Given the description of an element on the screen output the (x, y) to click on. 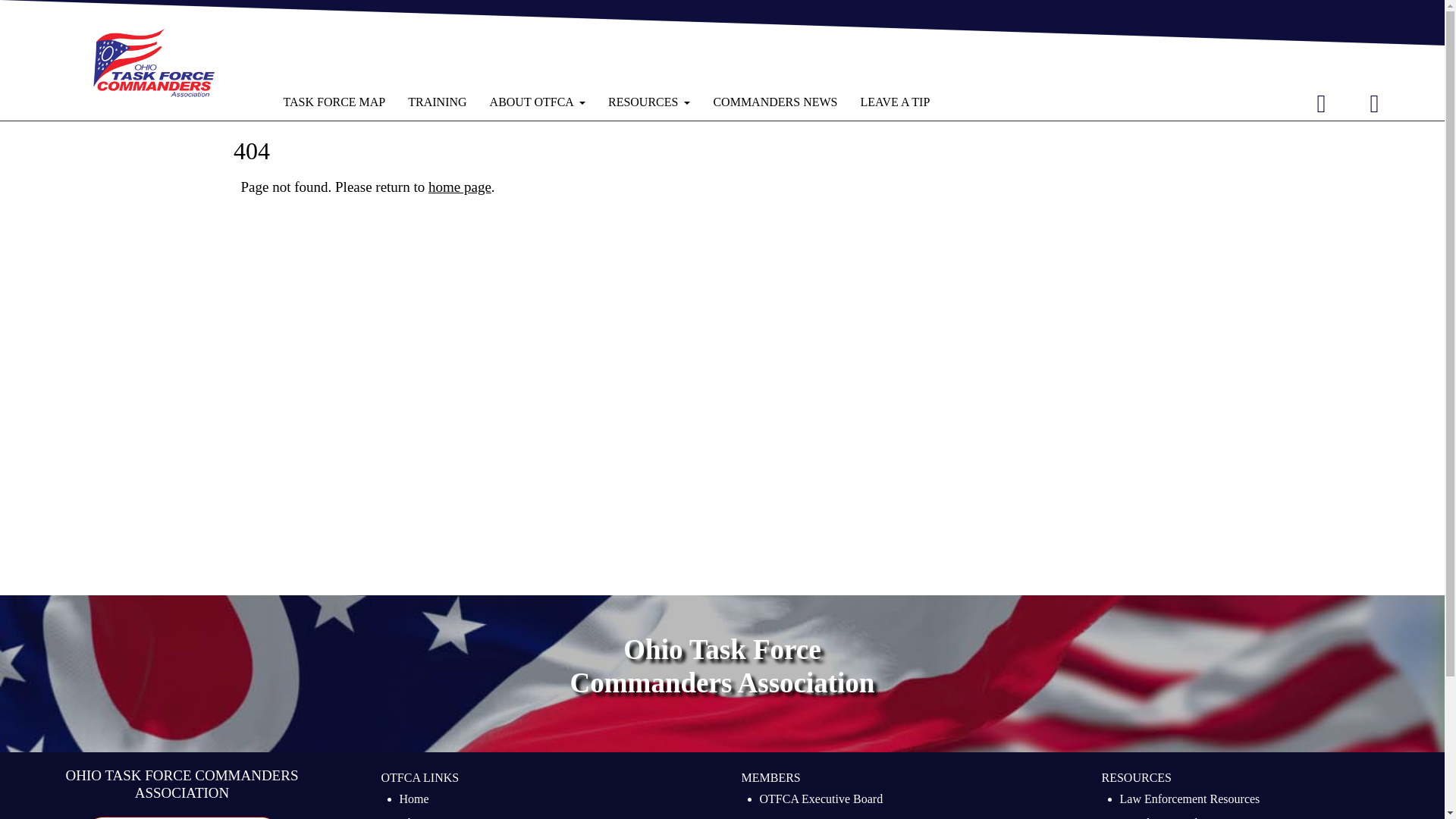
instgram icon (1374, 103)
ABOUT OTFCA (537, 101)
Ohio Task Force Commanders Association (153, 62)
TRAINING (436, 101)
RESOURCES (648, 101)
COMMANDERS NEWS (774, 101)
TASK FORCE MAP (333, 101)
OTFCA Executive Board (821, 800)
Law Enforcement Resources (1189, 800)
LEAVE A TIP (181, 817)
leave a tip button (181, 817)
About OTFCA (434, 816)
home page (460, 186)
LEAVE A TIP (894, 101)
Legislative Updates (1167, 816)
